Given the description of an element on the screen output the (x, y) to click on. 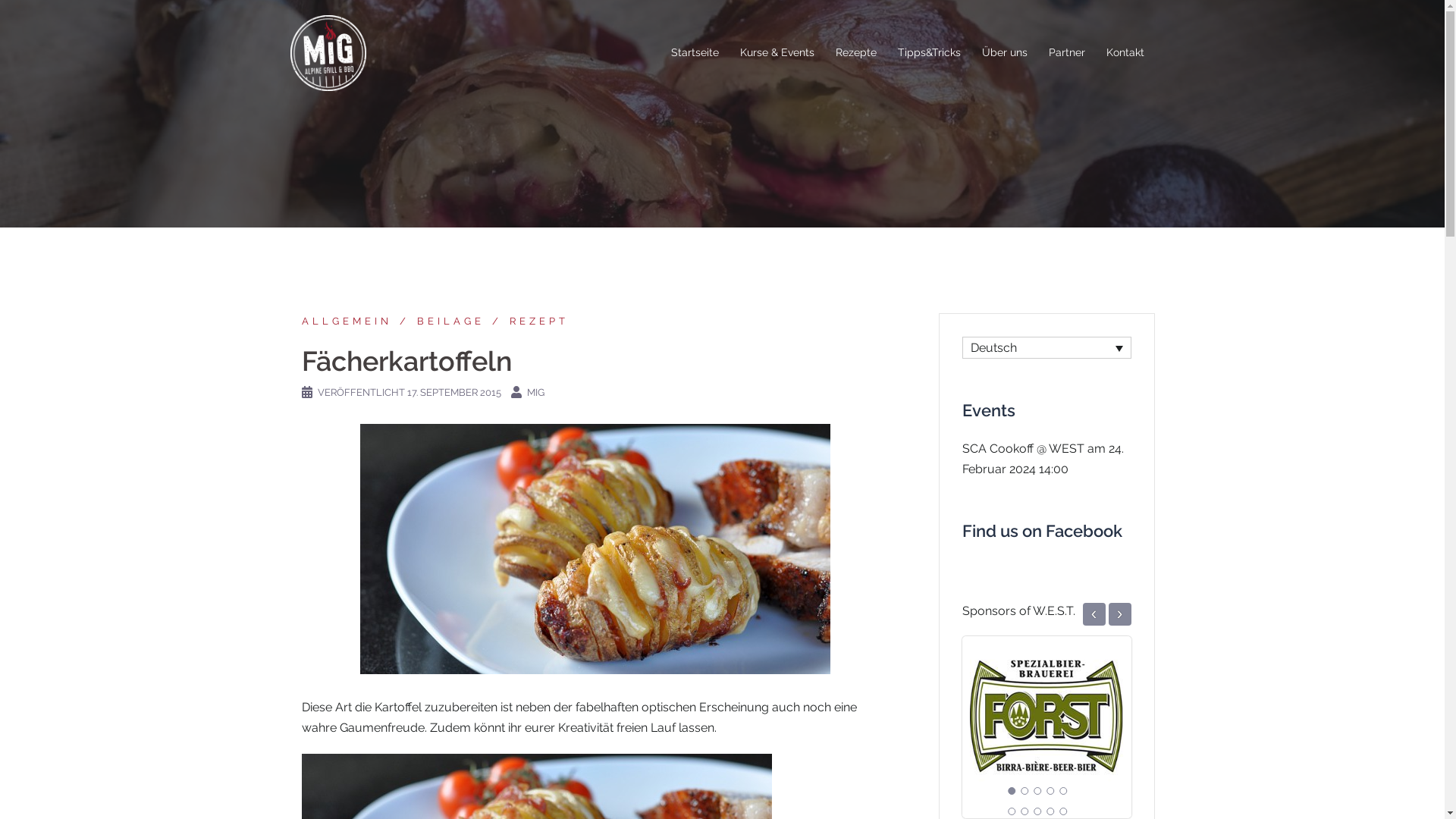
Deutsch Element type: text (1045, 347)
9 Element type: text (1050, 811)
Partner Element type: text (1066, 52)
3 Element type: text (1037, 790)
BEILAGE Element type: text (437, 320)
Kontakt Element type: text (1124, 52)
Brauerei Forst Element type: hover (1046, 715)
Rezepte Element type: text (855, 52)
8 Element type: text (1037, 811)
7 Element type: text (1024, 811)
2 Element type: text (1024, 790)
10 Element type: text (1062, 811)
ALLGEMEIN Element type: text (346, 320)
Tipps&Tricks Element type: text (928, 52)
17. SEPTEMBER 2015 Element type: text (453, 392)
1 Element type: text (1011, 790)
SCA Cookoff @ WEST Element type: text (1022, 448)
5 Element type: text (1062, 790)
MIG Element type: text (534, 392)
REZEPT Element type: text (525, 320)
6 Element type: text (1011, 811)
Startseite Element type: text (694, 52)
4 Element type: text (1050, 790)
Kurse & Events Element type: text (777, 52)
Suche Element type: text (43, 18)
